Given the description of an element on the screen output the (x, y) to click on. 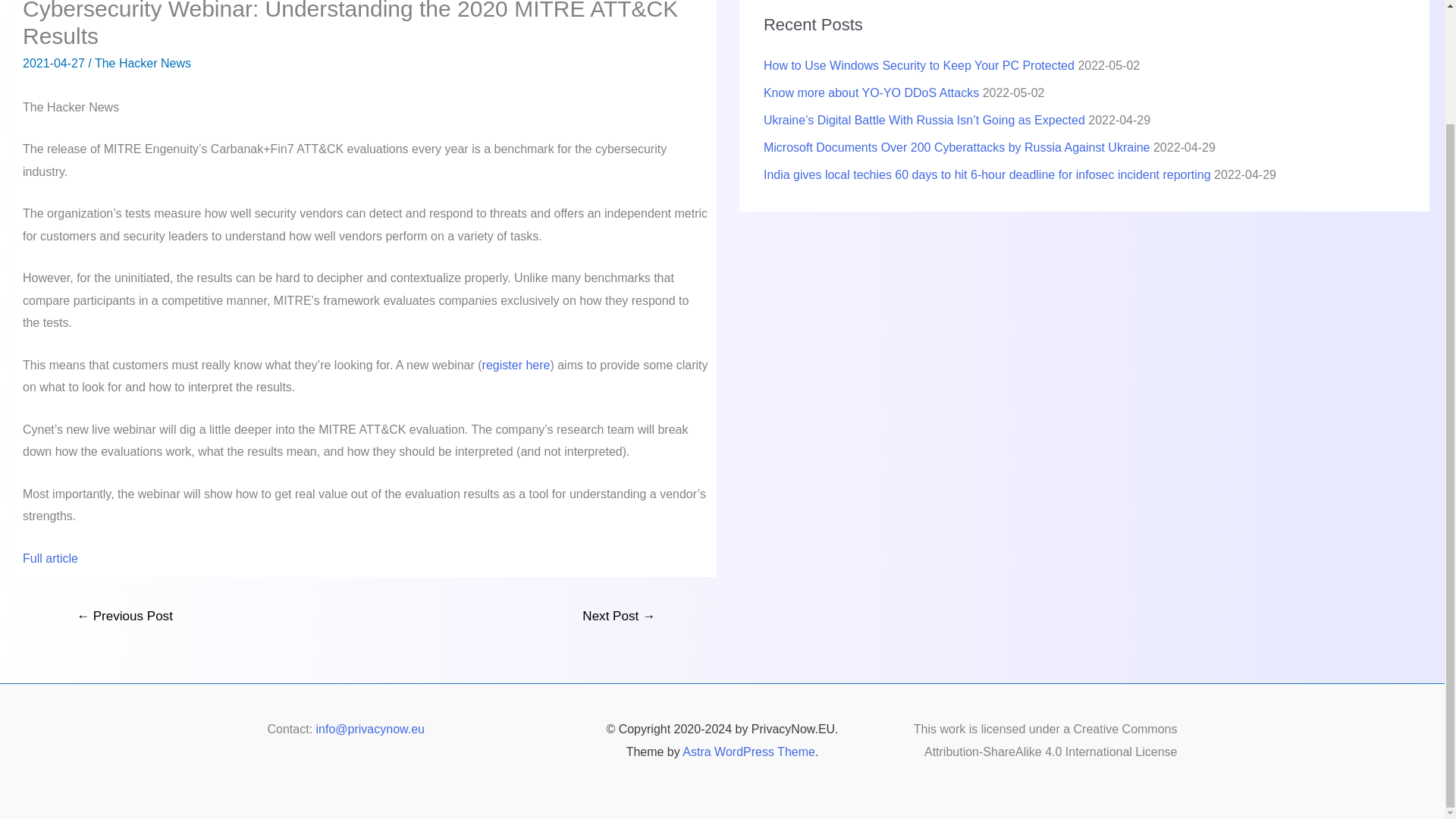
Full article (50, 558)
The Hacker News (142, 62)
register here (515, 364)
How to Use Windows Security to Keep Your PC Protected (918, 65)
Know more about YO-YO DDoS Attacks (870, 92)
Astra WordPress Theme (748, 751)
